Given the description of an element on the screen output the (x, y) to click on. 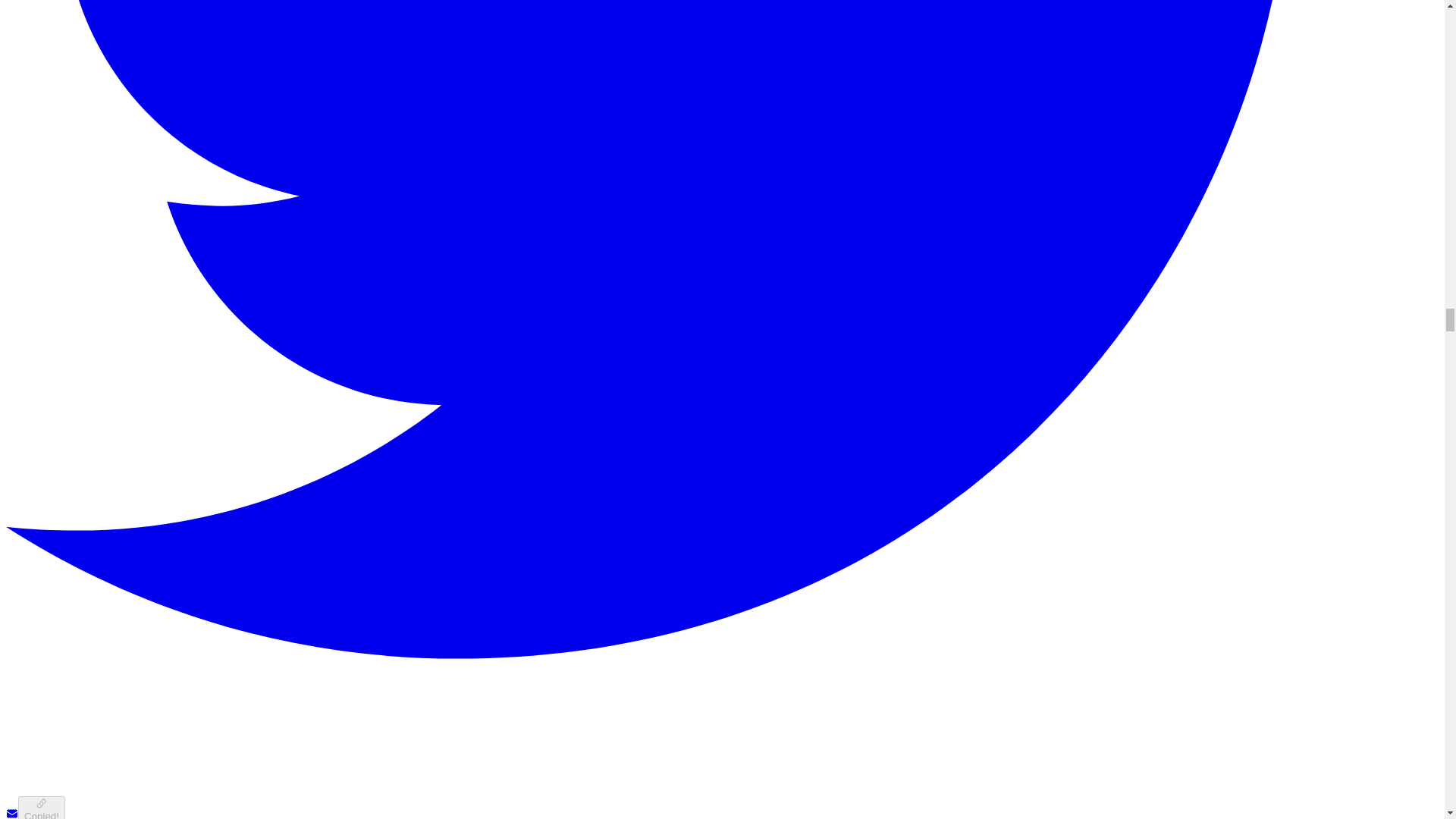
Copied! (41, 807)
